Given the description of an element on the screen output the (x, y) to click on. 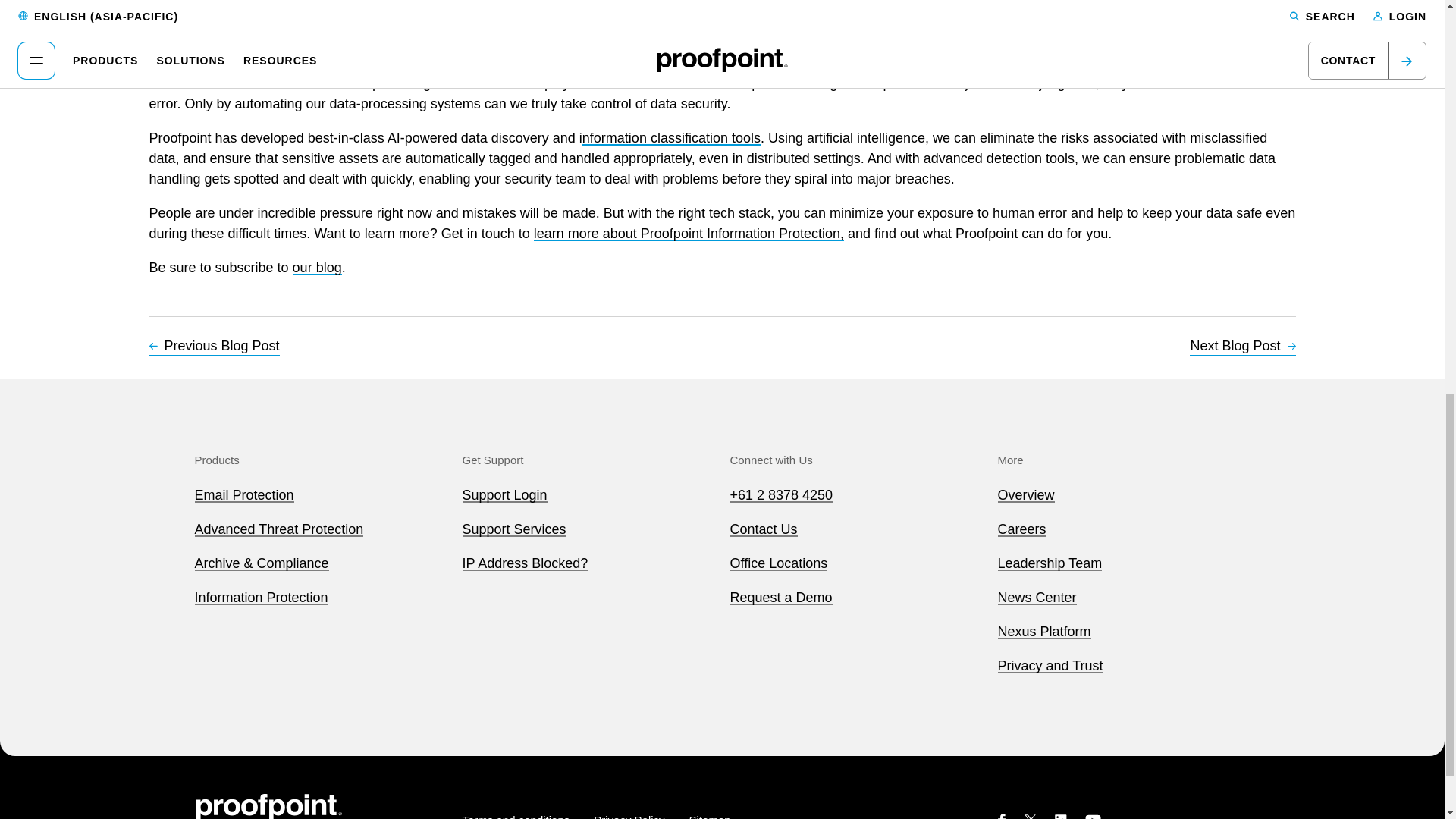
Shadow IT (1206, 28)
Intelligent Classification and Protection (671, 137)
